Given the description of an element on the screen output the (x, y) to click on. 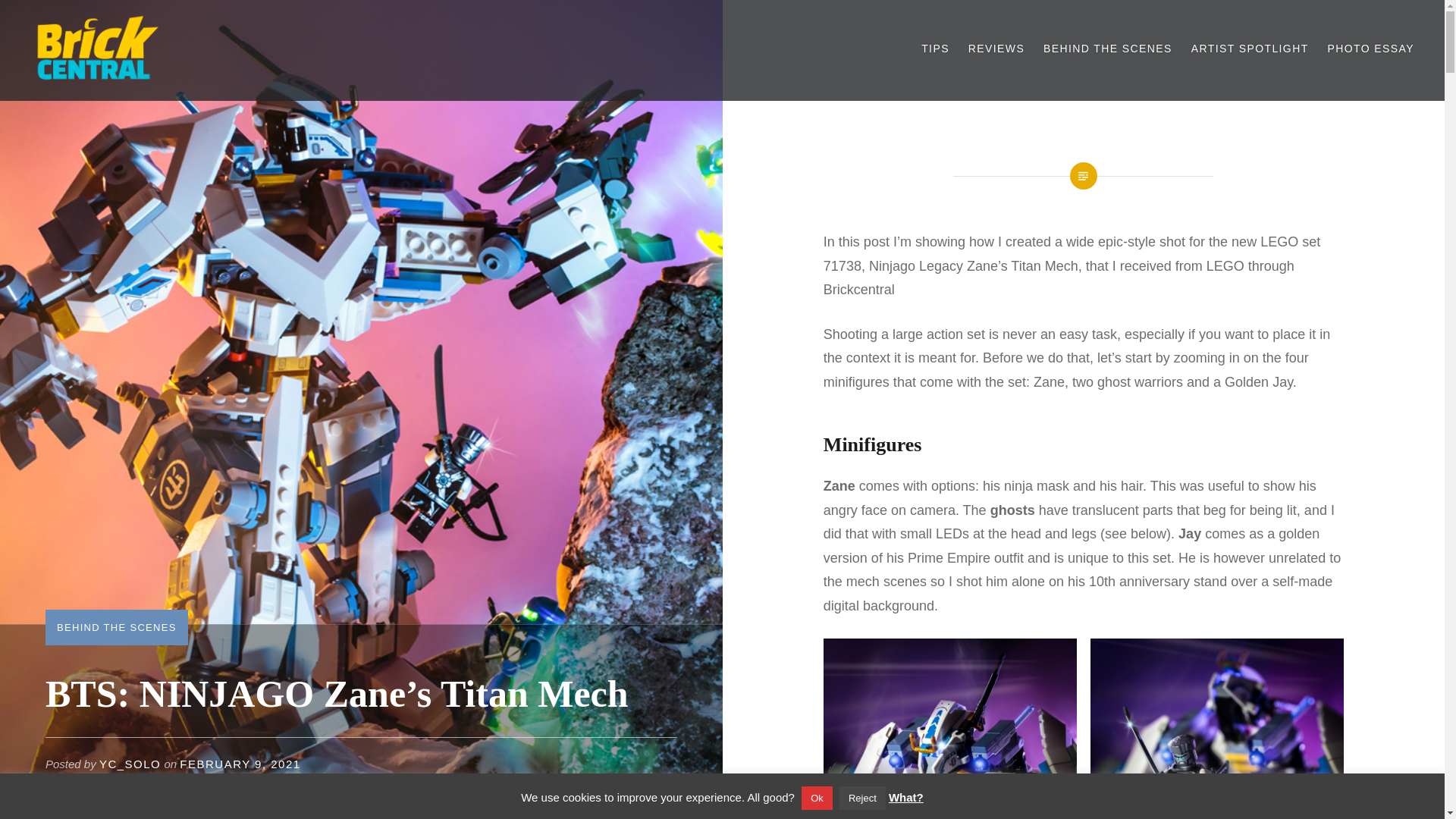
REVIEWS (996, 48)
PHOTO ESSAY (1370, 48)
BEHIND THE SCENES (1107, 48)
BrickCentral (94, 102)
TIPS (935, 48)
BEHIND THE SCENES (116, 627)
ARTIST SPOTLIGHT (1249, 48)
FEBRUARY 9, 2021 (239, 763)
